Given the description of an element on the screen output the (x, y) to click on. 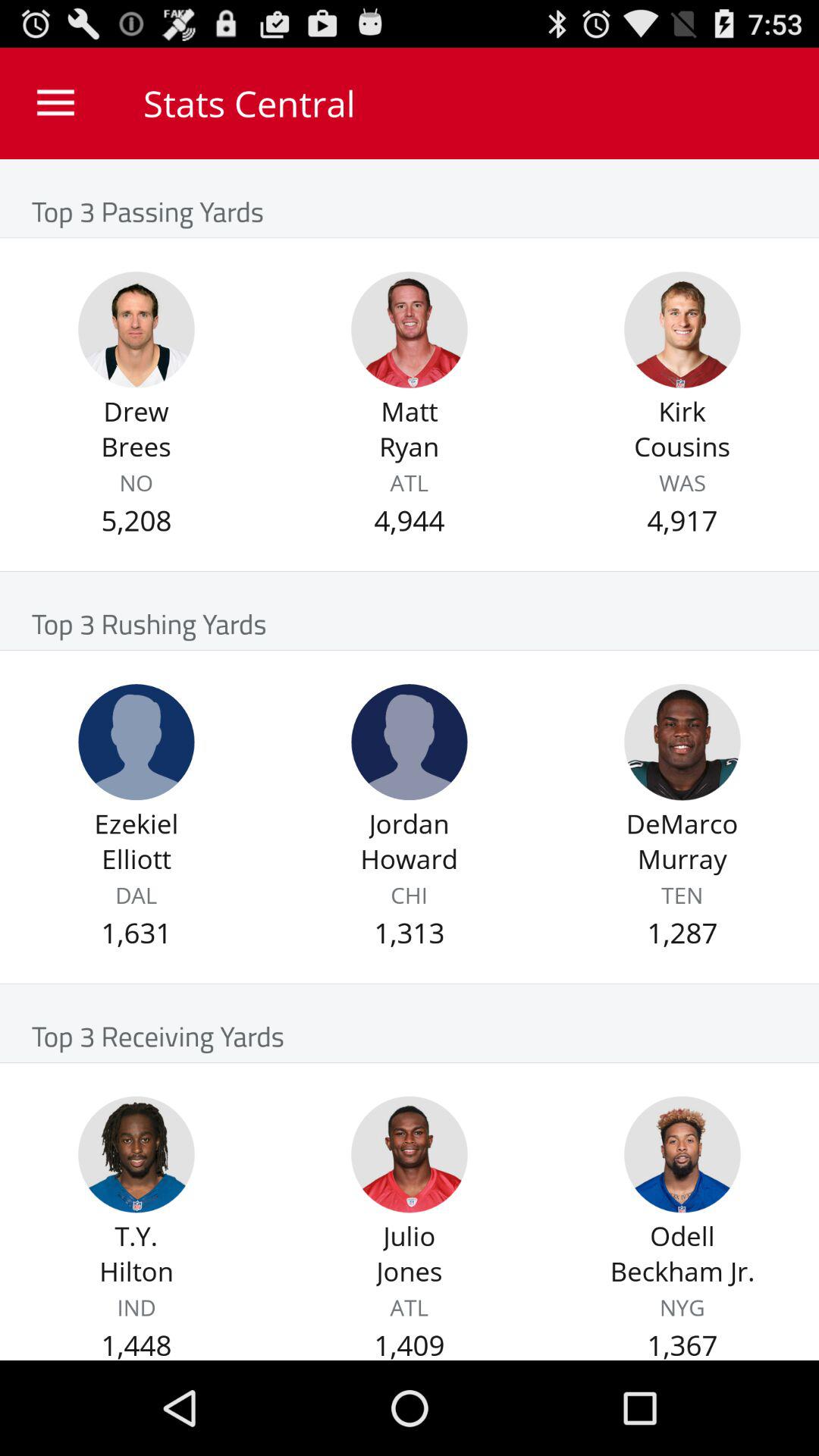
drew brees top 3 passing yards (136, 329)
